Given the description of an element on the screen output the (x, y) to click on. 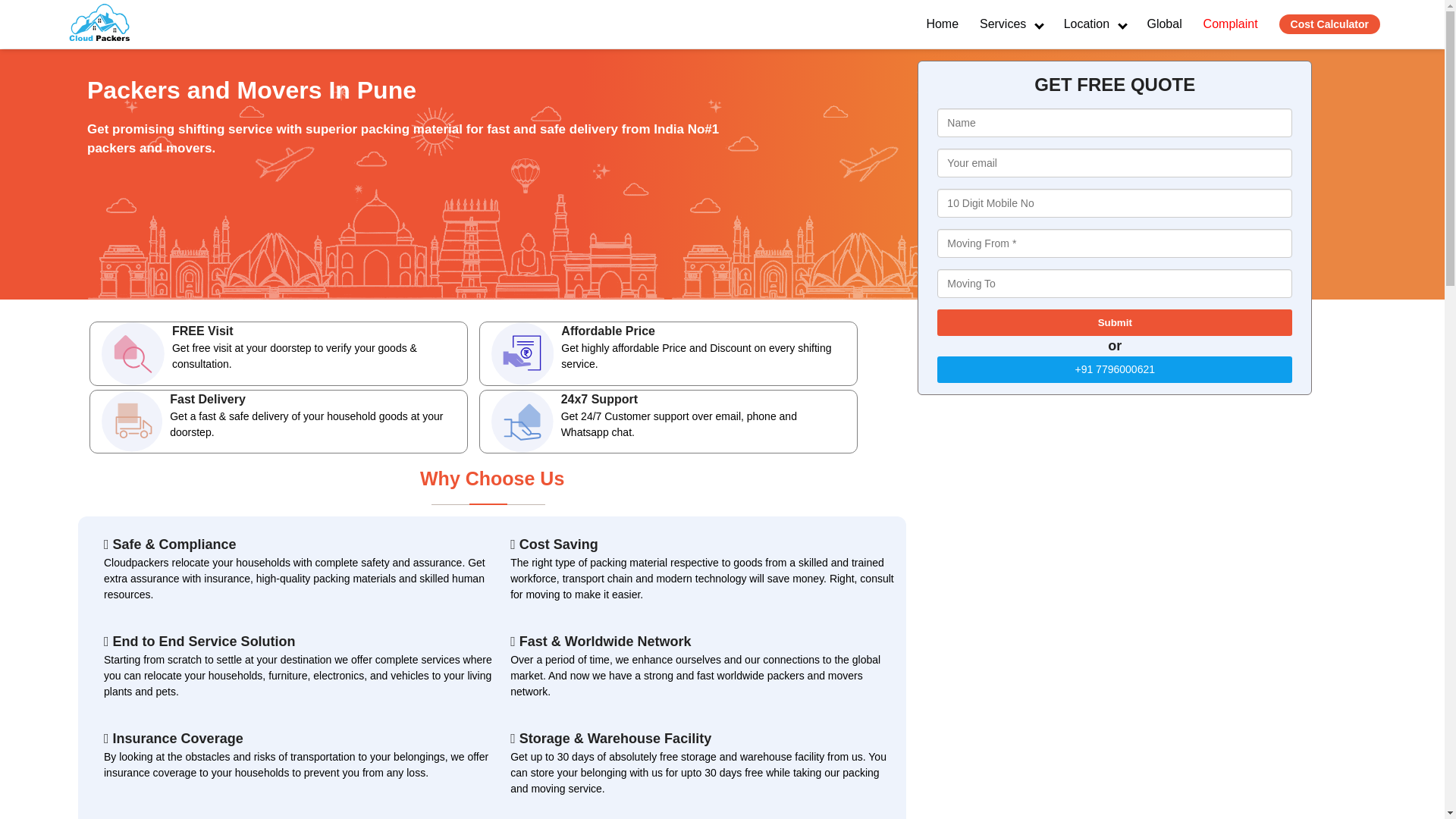
Home (942, 24)
Global (1163, 24)
Cost Calculator (1329, 24)
Submit (1114, 322)
Submit (1114, 322)
Complaint (1230, 24)
